Given the description of an element on the screen output the (x, y) to click on. 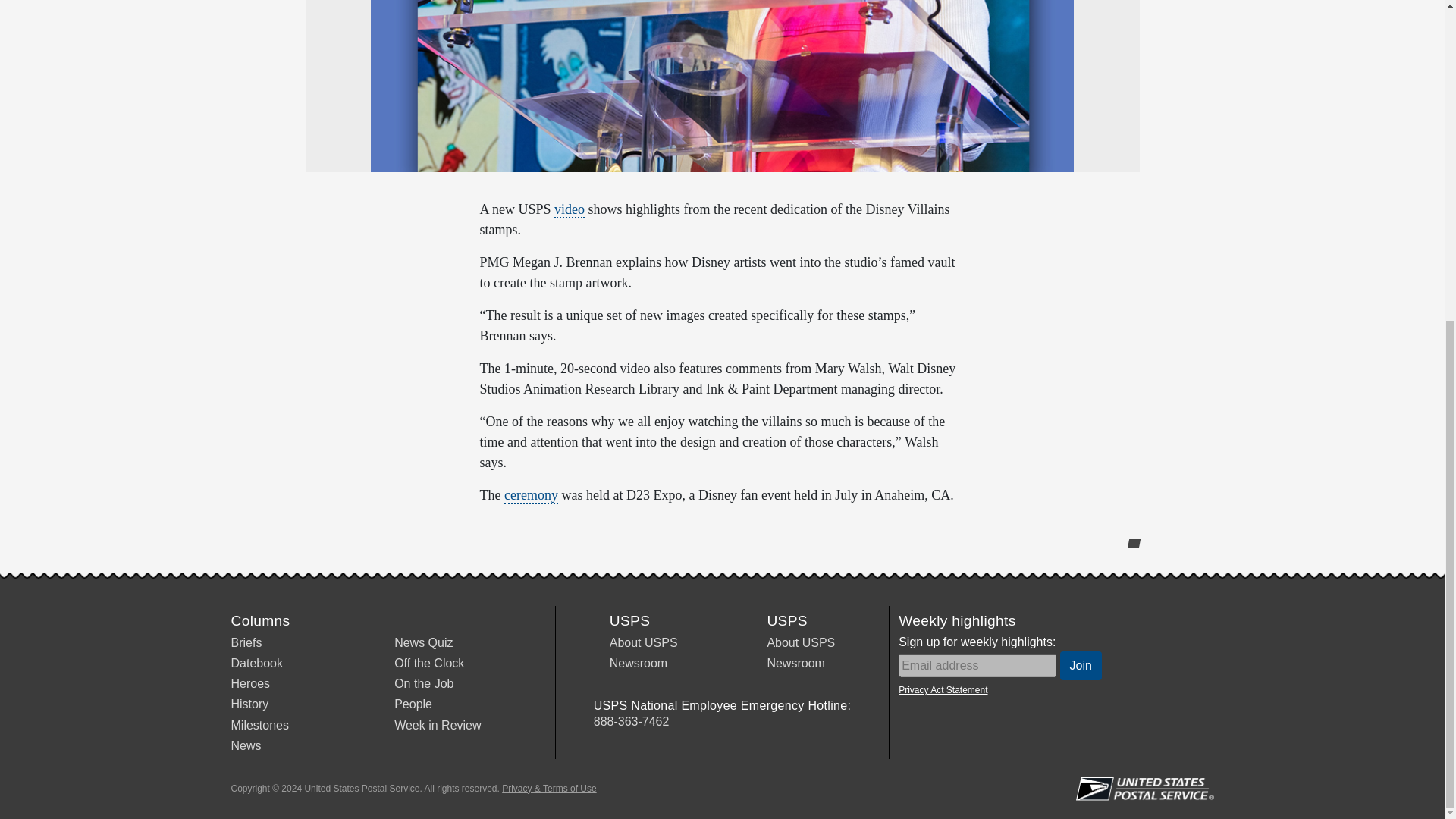
video (569, 209)
Datebook (256, 662)
Week in Review (437, 725)
History (248, 703)
Off the Clock (429, 662)
Newsroom (795, 662)
About USPS (800, 642)
News (245, 745)
Milestones (259, 725)
Newsroom (638, 662)
About USPS (644, 642)
ceremony (530, 495)
Join (1080, 665)
On the Job (423, 683)
Heroes (249, 683)
